Given the description of an element on the screen output the (x, y) to click on. 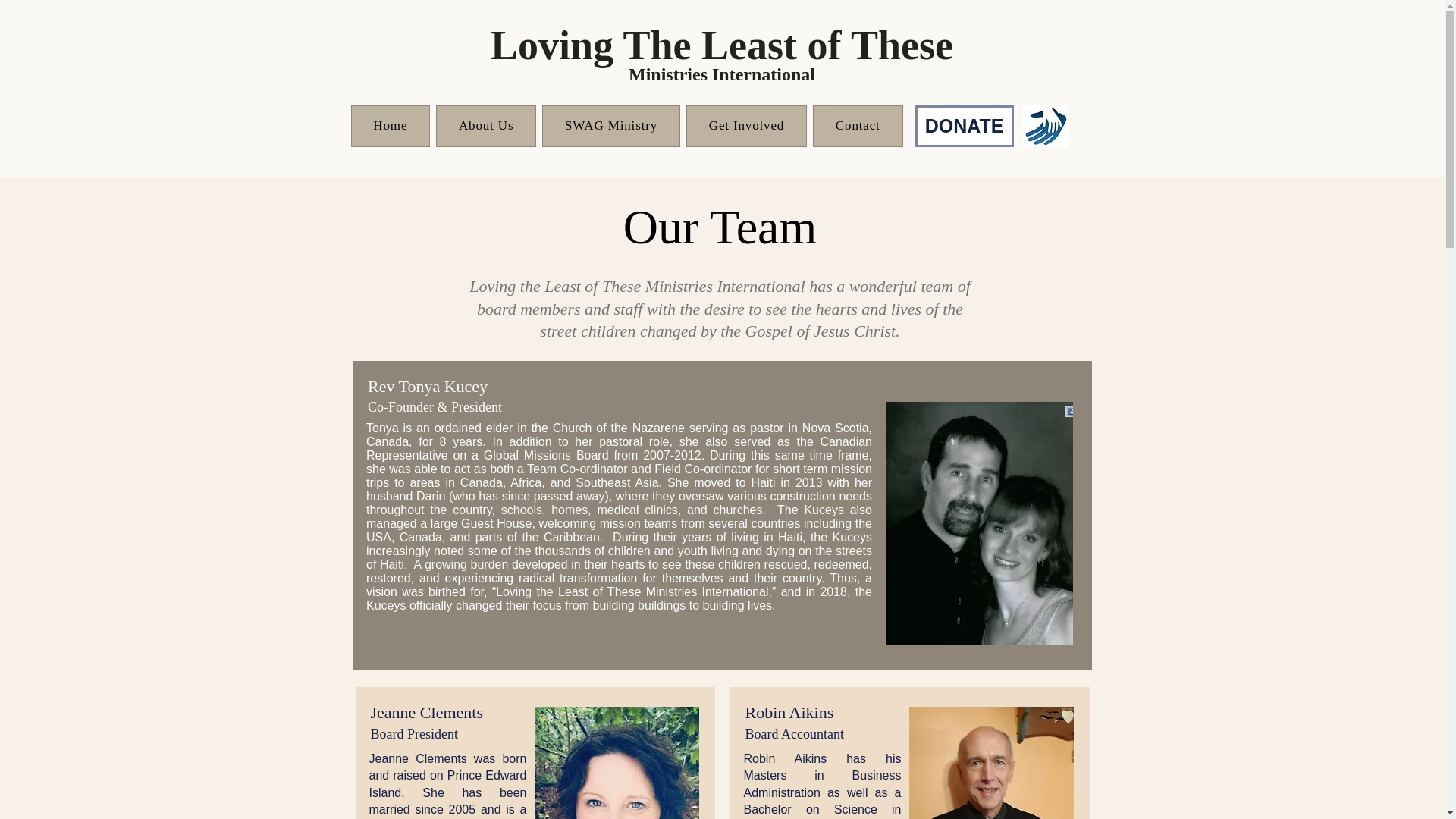
DONATE (963, 126)
About Us (485, 126)
Home (389, 126)
Get Involved (745, 126)
SWAG Ministry (626, 126)
Contact (610, 126)
